Given the description of an element on the screen output the (x, y) to click on. 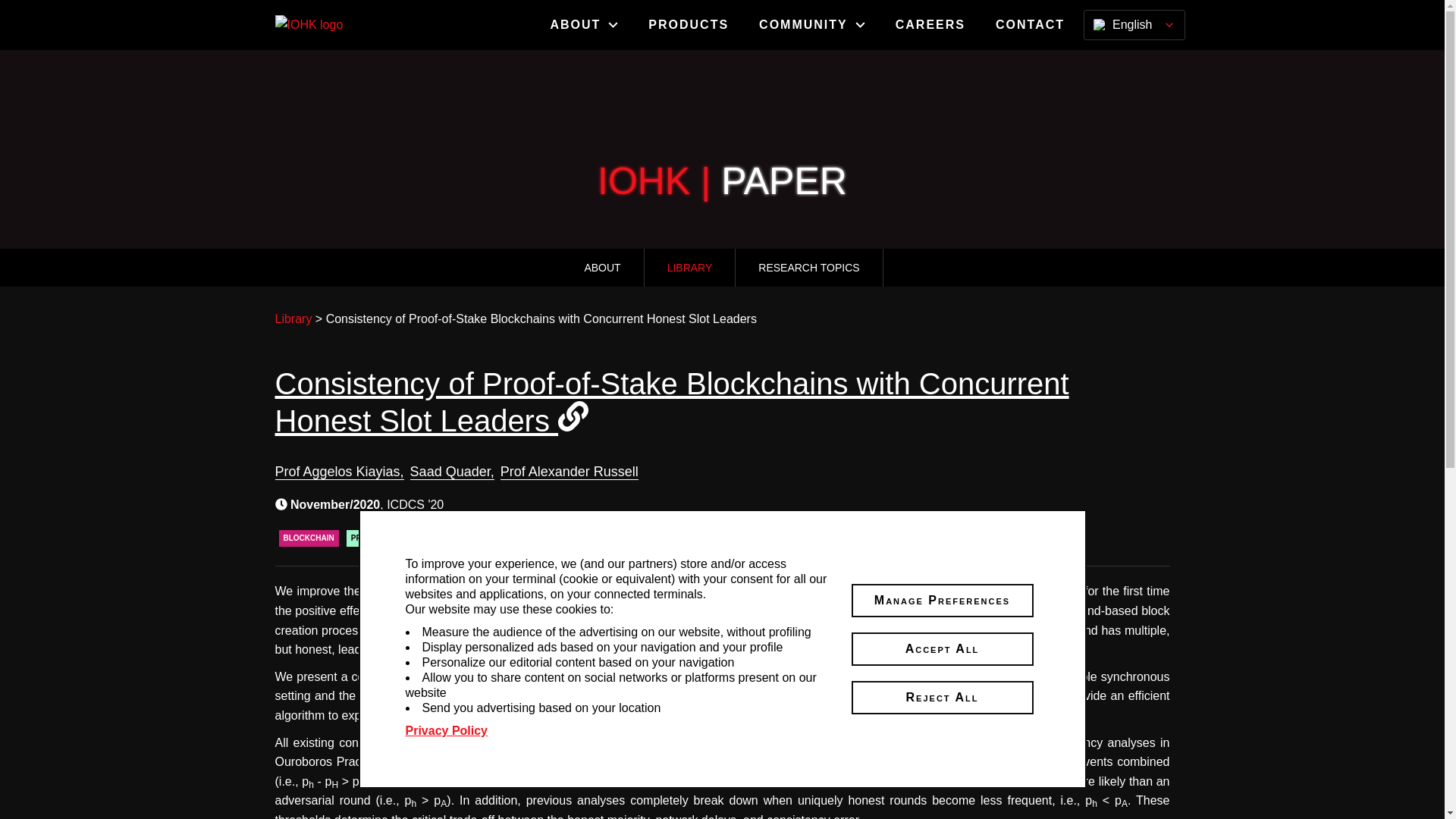
PRODUCTS (688, 24)
CAREERS (929, 24)
Prof Alexander Russell (569, 471)
Reject All (941, 697)
BLOCKCHAIN (309, 538)
LIBRARY (689, 267)
Manage Preferences (941, 600)
CONTACT (1029, 24)
PROOF-OF-STAKE (384, 538)
Library (293, 318)
Select language (1133, 24)
Privacy Policy (445, 730)
Saad Quader, (452, 471)
Prof Aggelos Kiayias, (339, 471)
English (1133, 24)
